Given the description of an element on the screen output the (x, y) to click on. 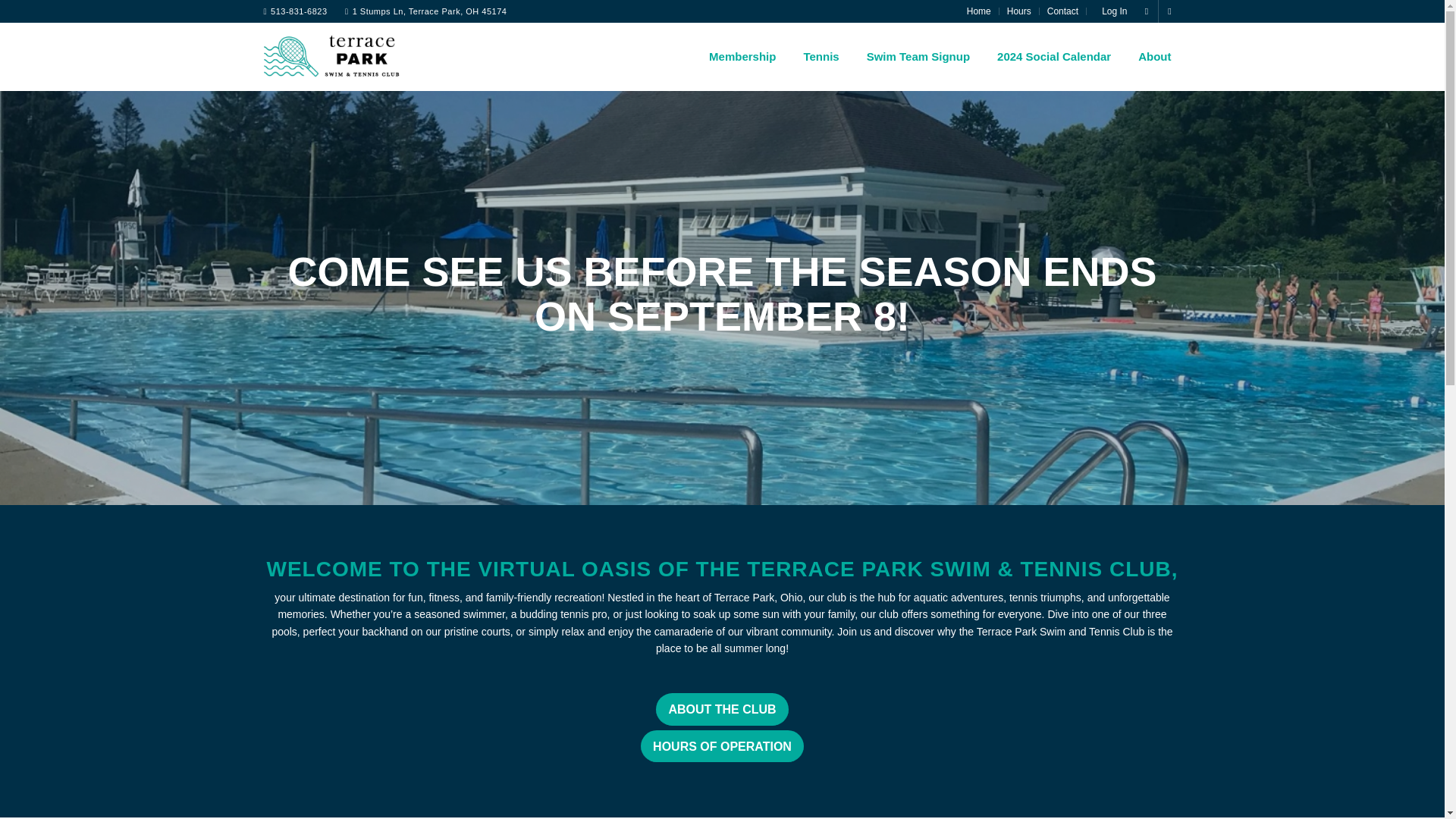
logo (331, 55)
Contact (1062, 11)
Facebook (1146, 11)
Membership (738, 56)
Swim Team Signup (913, 56)
X (1169, 11)
Tennis (817, 56)
logo (331, 68)
Log In (1110, 11)
Home (978, 11)
